Given the description of an element on the screen output the (x, y) to click on. 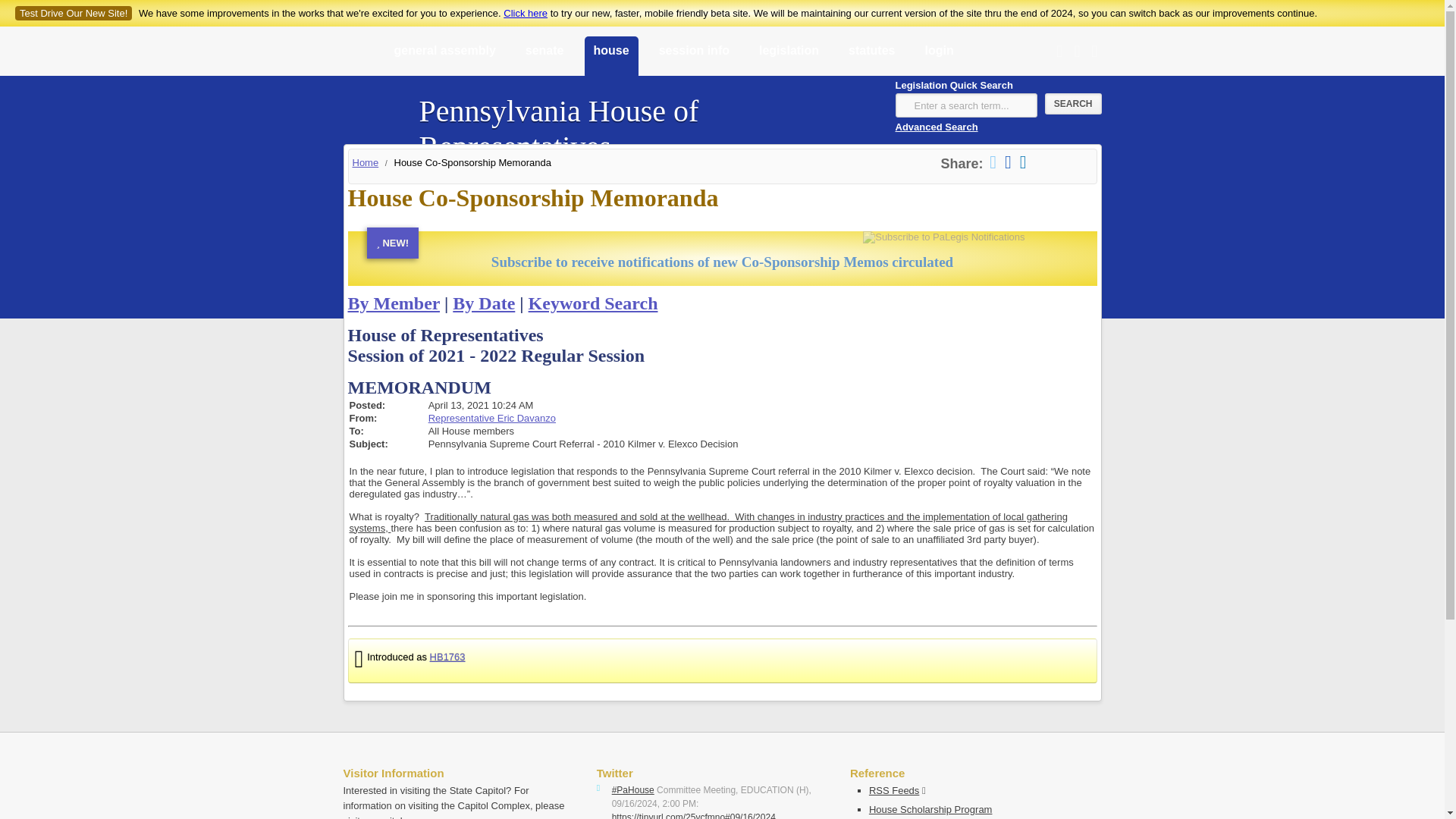
statutes (872, 57)
general assembly (445, 57)
session info (693, 57)
Search (1073, 103)
Advanced Search (935, 126)
senate (544, 57)
legislation (788, 57)
Click here (525, 12)
house (610, 57)
login (938, 57)
